Given the description of an element on the screen output the (x, y) to click on. 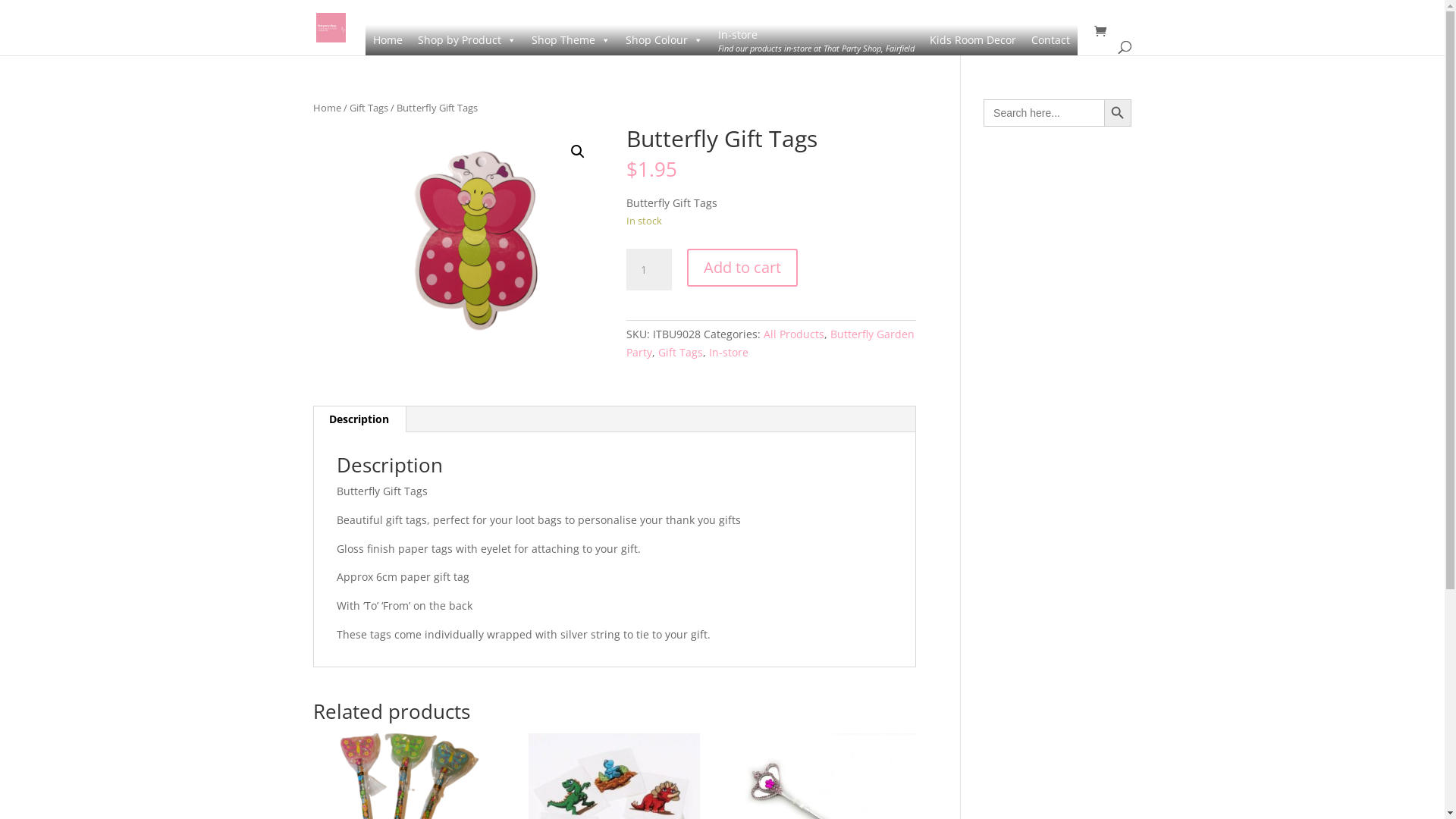
Home Element type: text (326, 107)
Home Element type: text (387, 40)
Shop Theme Element type: text (570, 40)
Contact Element type: text (1050, 40)
Shop by Product Element type: text (466, 40)
Add to cart Element type: text (742, 267)
Search Button Element type: text (1117, 112)
Shop Colour Element type: text (663, 40)
Butterfly Garden Party Element type: text (770, 342)
IMG_0268-Butterfly Gift Tags Element type: hover (457, 235)
Description Element type: text (358, 419)
Gift Tags Element type: text (680, 352)
In-store Element type: text (728, 352)
All Products Element type: text (793, 333)
Kids Room Decor Element type: text (972, 40)
Gift Tags Element type: text (367, 107)
